Given the description of an element on the screen output the (x, y) to click on. 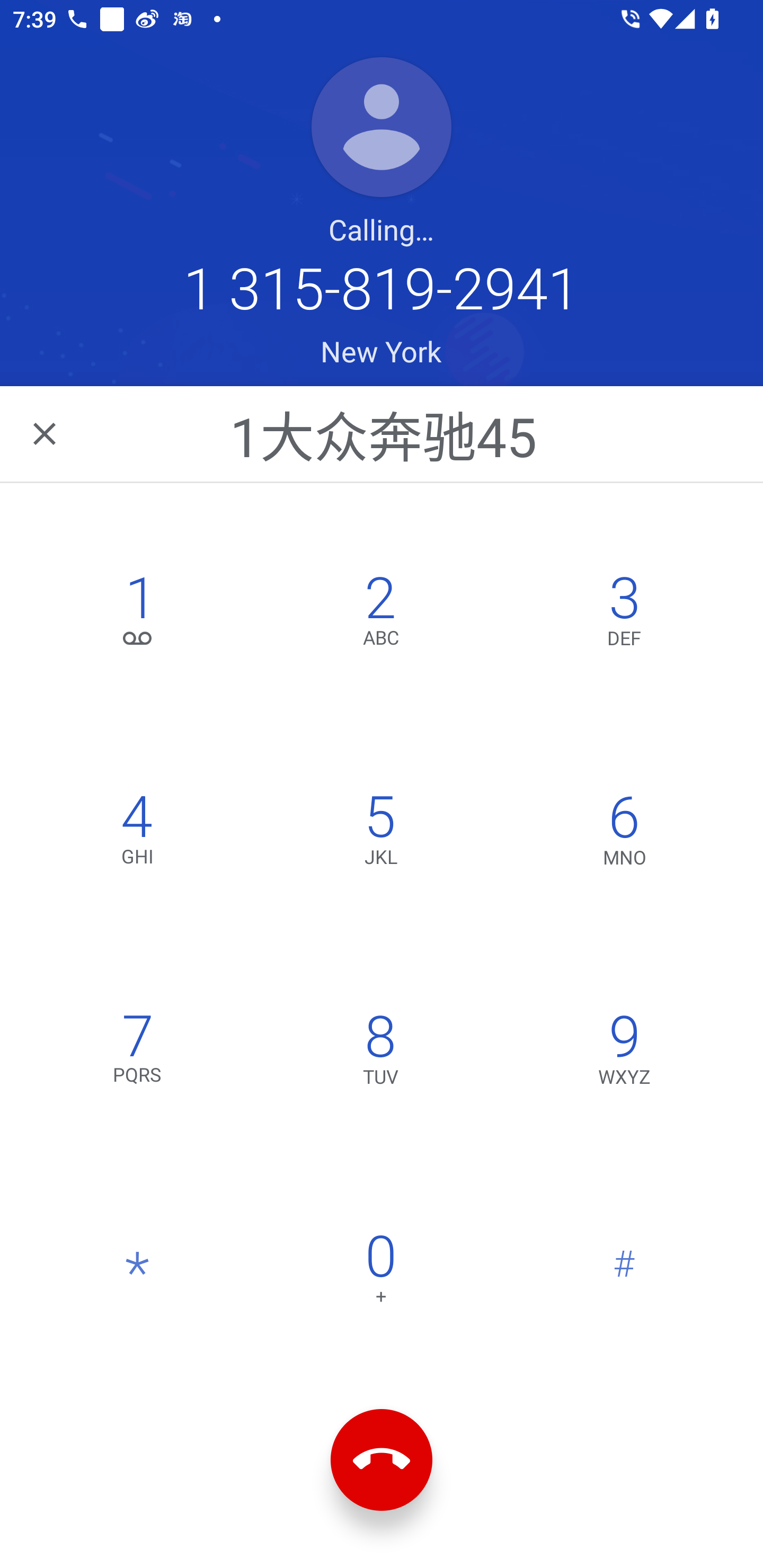
1大众奔驰45 (382, 433)
Navigate back (45, 433)
1, 1 (137, 614)
2,ABC 2 ABC (380, 614)
3,DEF 3 DEF (624, 614)
4,GHI 4 GHI (137, 833)
5,JKL 5 JKL (380, 833)
6,MNO 6 MNO (624, 833)
7,PQRS 7 PQRS (137, 1053)
8,TUV 8 TUV (380, 1053)
9,WXYZ 9 WXYZ (624, 1053)
* (137, 1272)
0 0 + (380, 1272)
# (624, 1272)
End call (381, 1460)
